Given the description of an element on the screen output the (x, y) to click on. 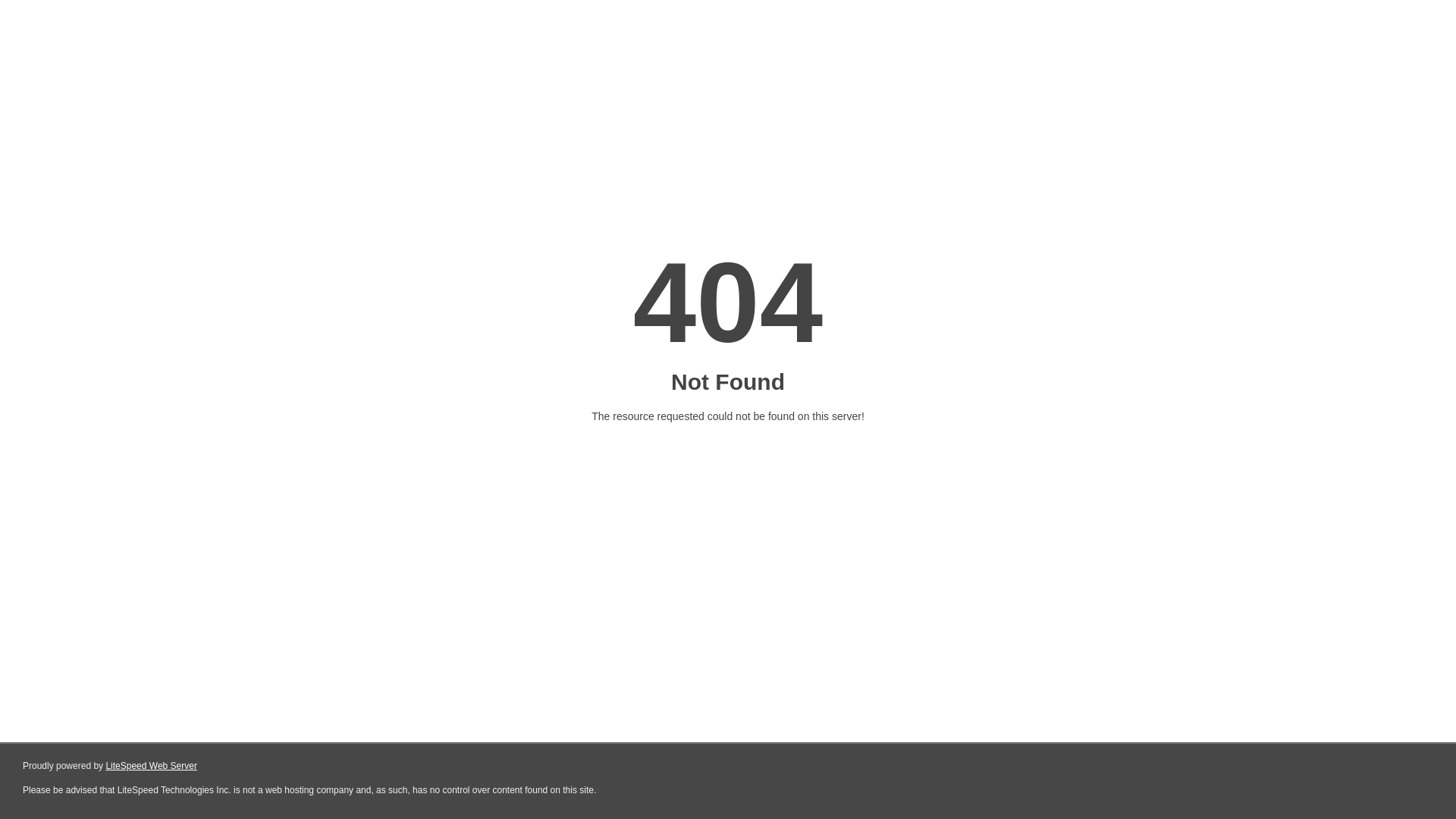
LiteSpeed Web Server Element type: text (151, 765)
